Given the description of an element on the screen output the (x, y) to click on. 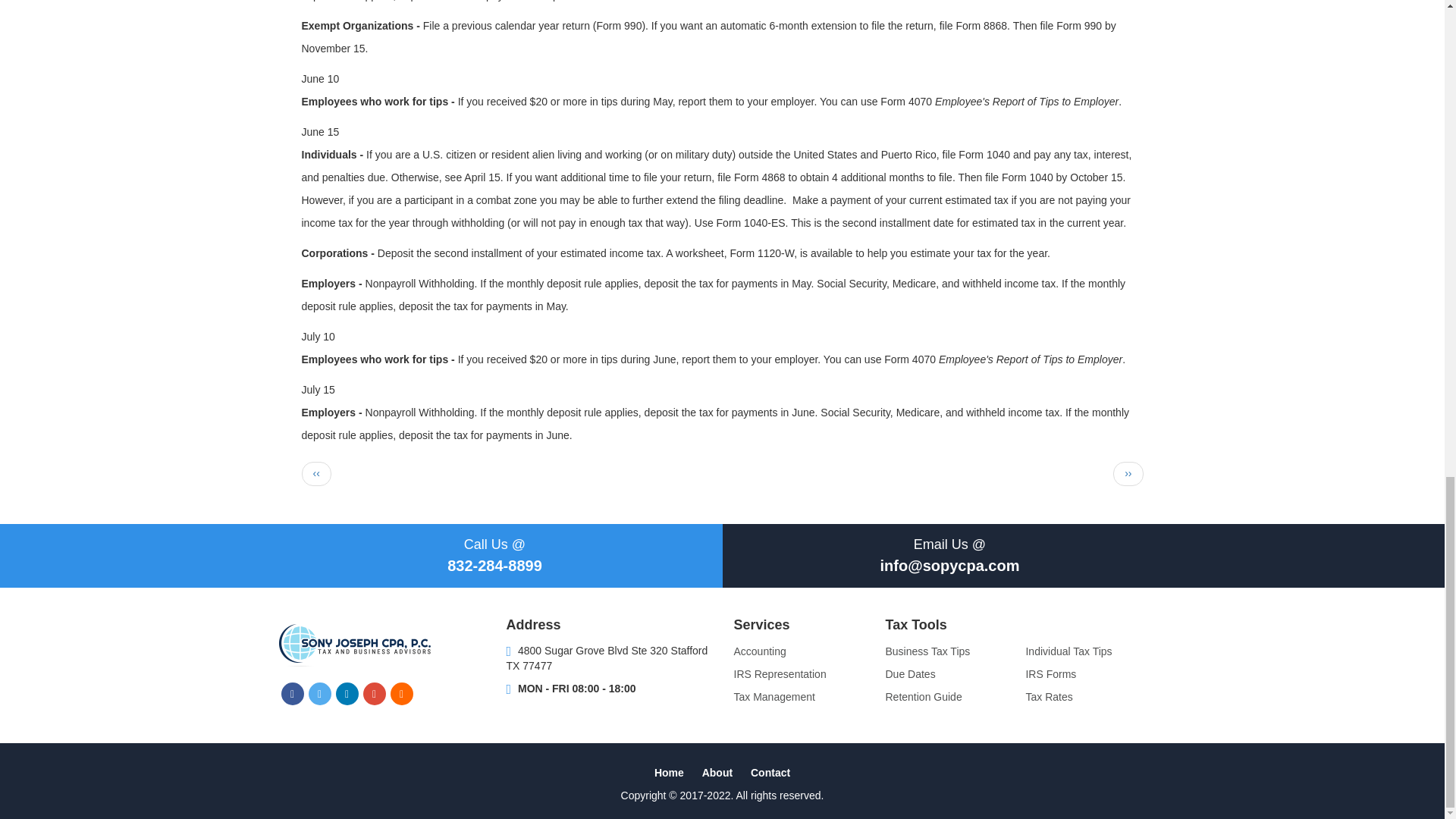
Accounting (759, 651)
